Given the description of an element on the screen output the (x, y) to click on. 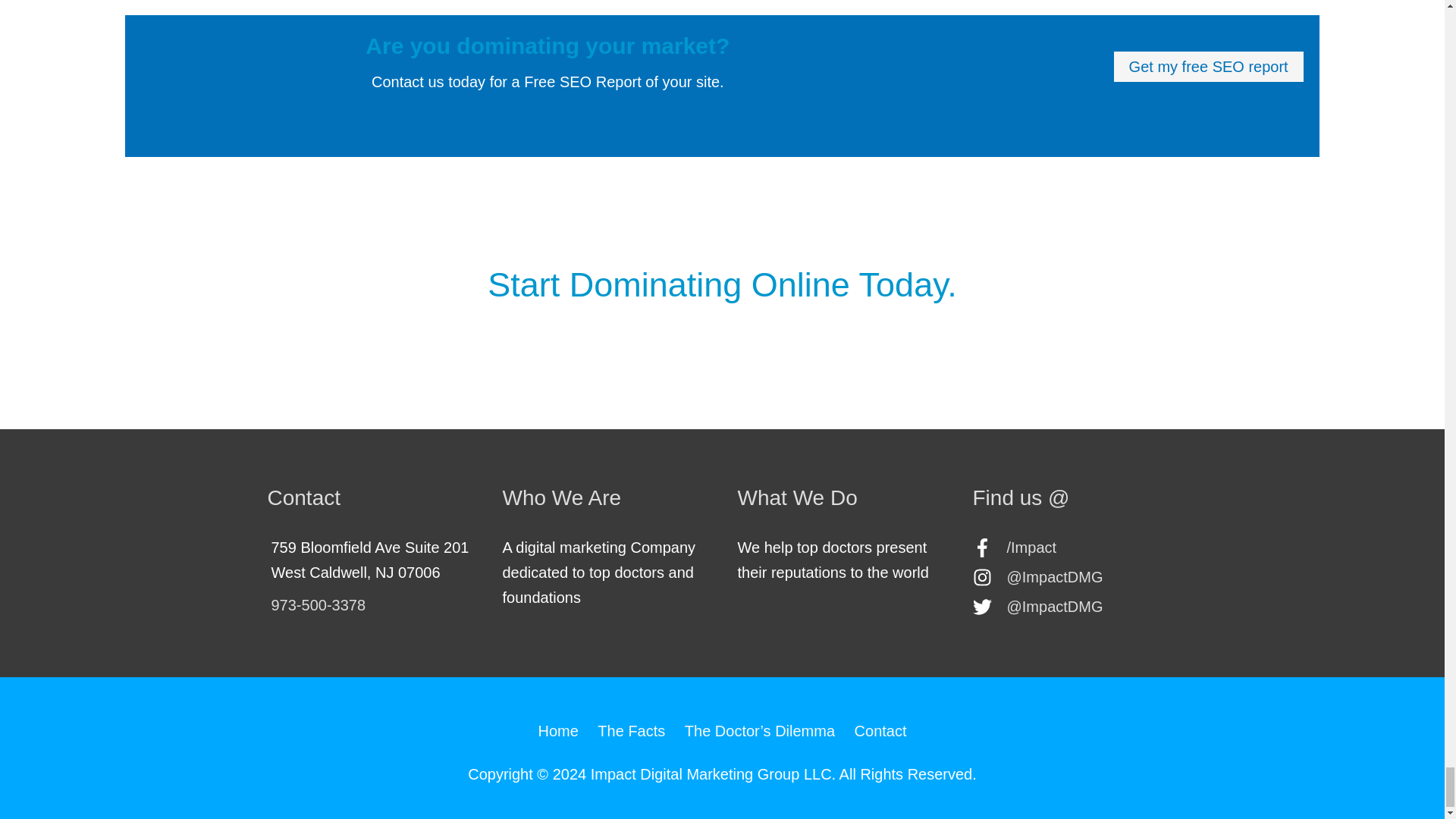
Home (561, 730)
Get my free SEO report (1208, 66)
Contact (877, 730)
973-500-3378 (318, 605)
The Facts (630, 730)
